Given the description of an element on the screen output the (x, y) to click on. 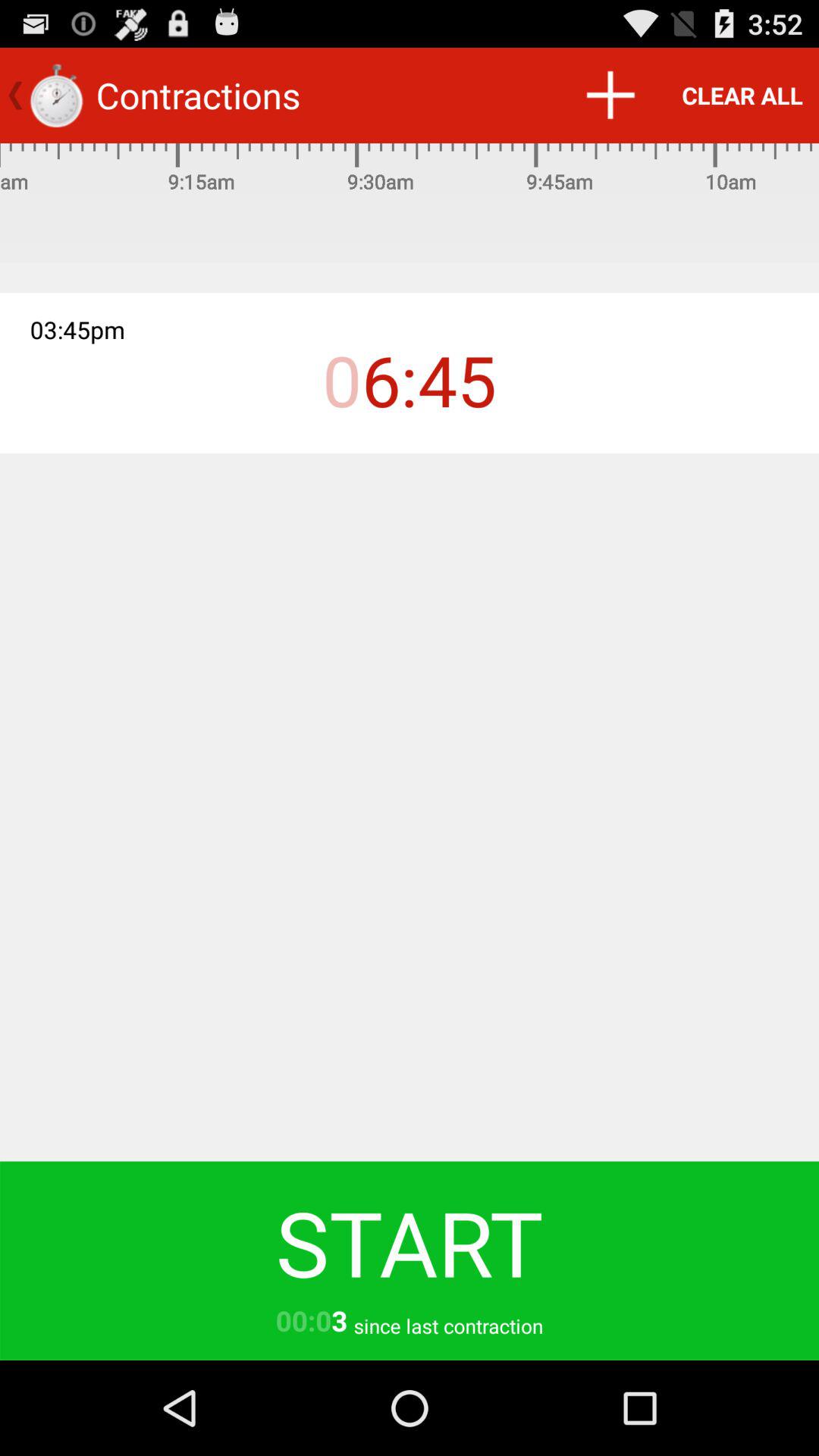
jump to clear all item (742, 95)
